Given the description of an element on the screen output the (x, y) to click on. 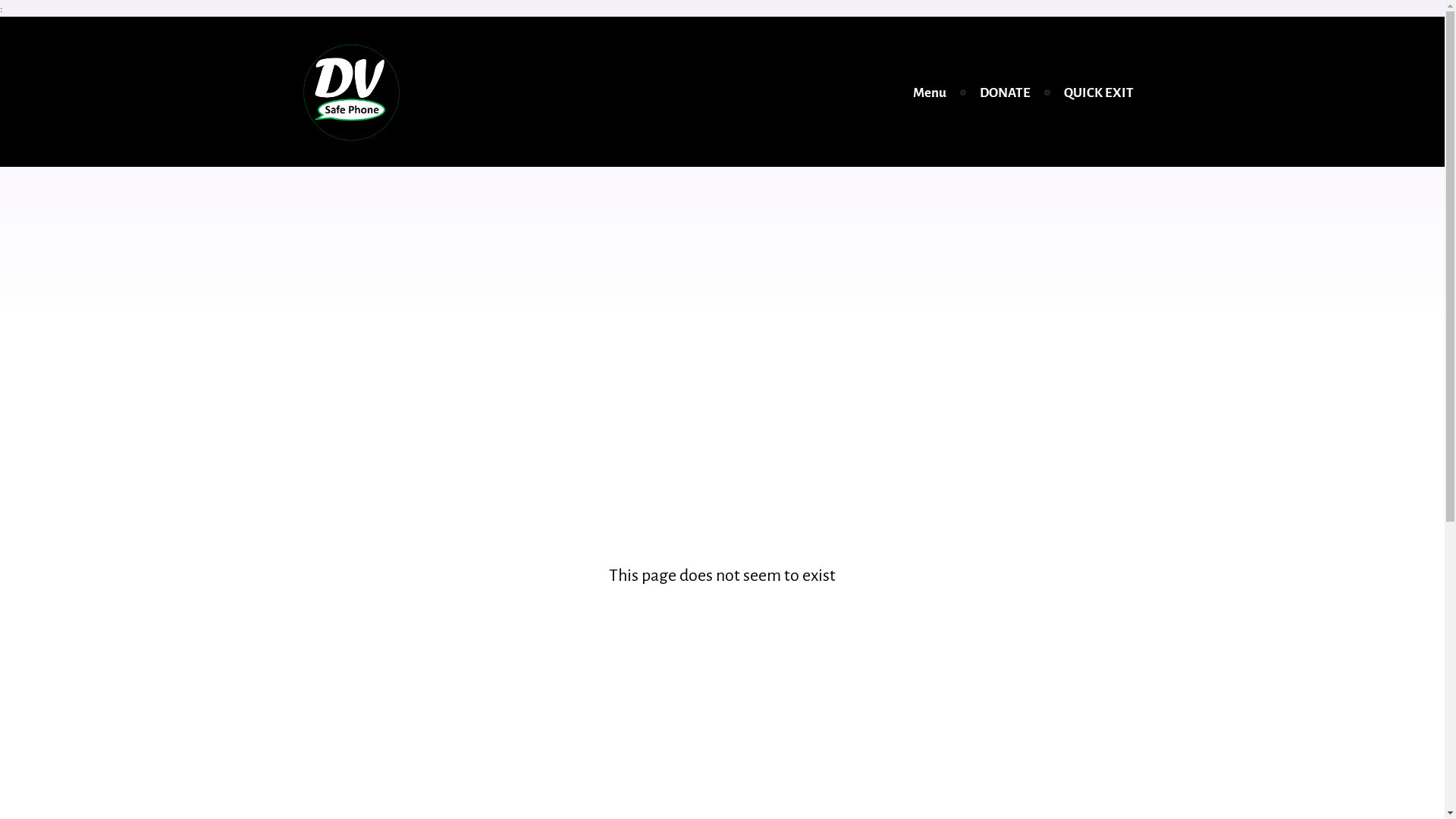
DONATE Element type: text (1004, 92)
QUICK EXIT Element type: text (1098, 92)
Menu Element type: text (929, 92)
